Given the description of an element on the screen output the (x, y) to click on. 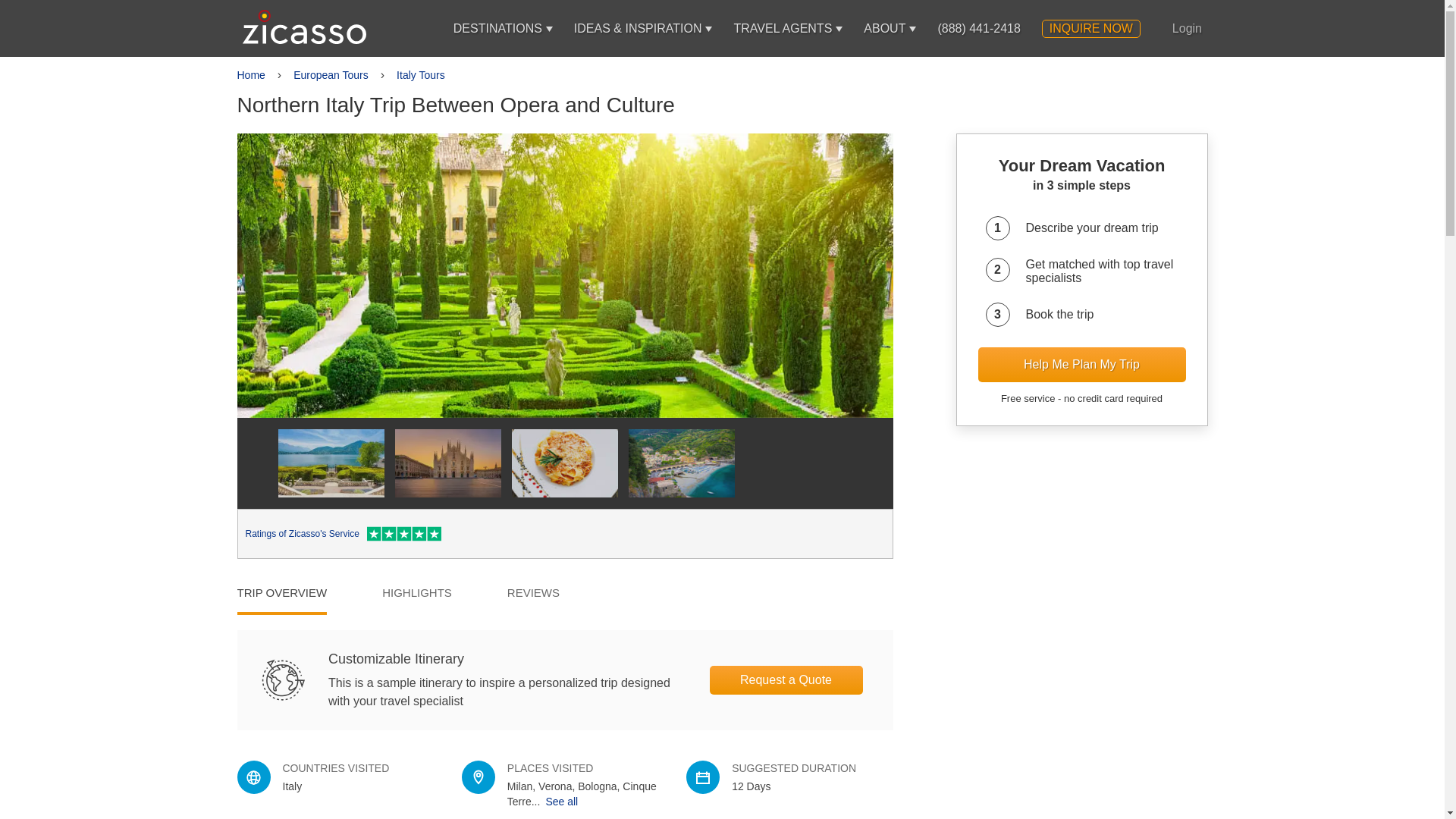
TRAVEL AGENTS (782, 28)
Zicasso Logo (304, 26)
INQUIRE NOW (1091, 28)
Login (1187, 28)
